Given the description of an element on the screen output the (x, y) to click on. 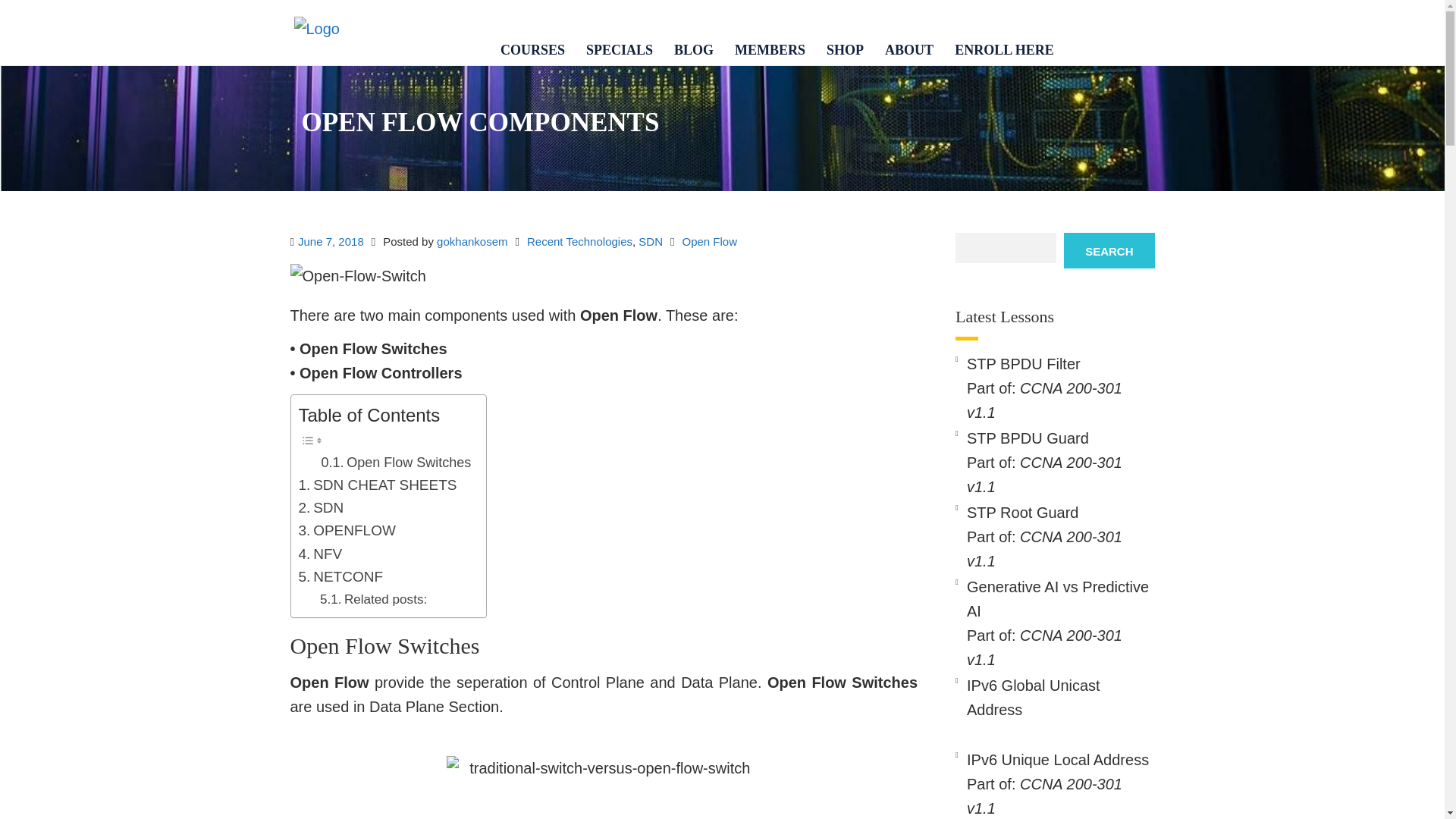
OPENFLOW (347, 530)
NFV (320, 553)
Open Flow Switches (396, 463)
Related posts: (373, 598)
SDN (320, 507)
View all posts by gokhankosem (471, 241)
SDN CHEAT SHEETS (377, 485)
Permalink to Open Flow Components (331, 241)
NETCONF (340, 576)
